Given the description of an element on the screen output the (x, y) to click on. 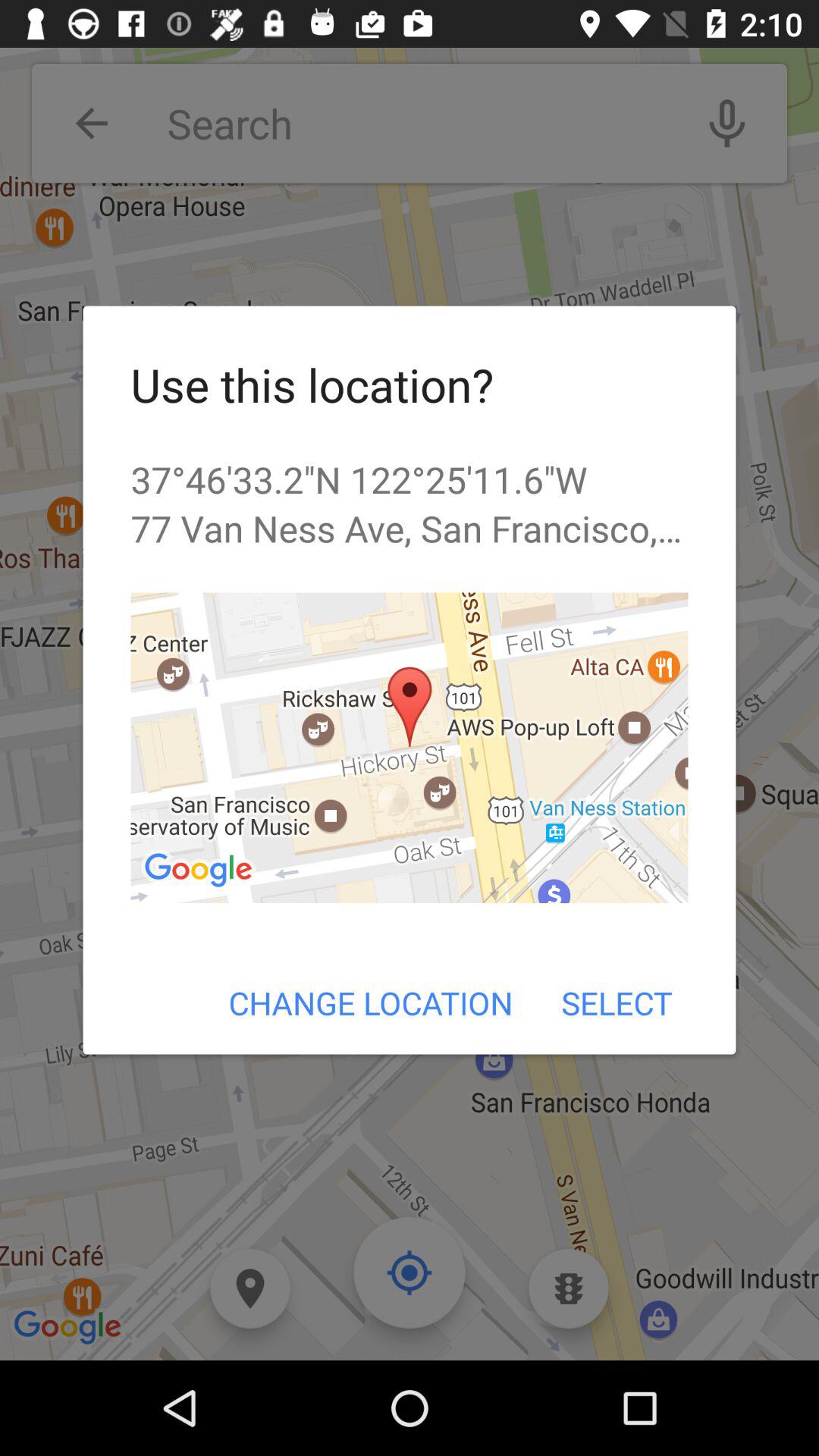
tap the icon next to select item (370, 1002)
